Given the description of an element on the screen output the (x, y) to click on. 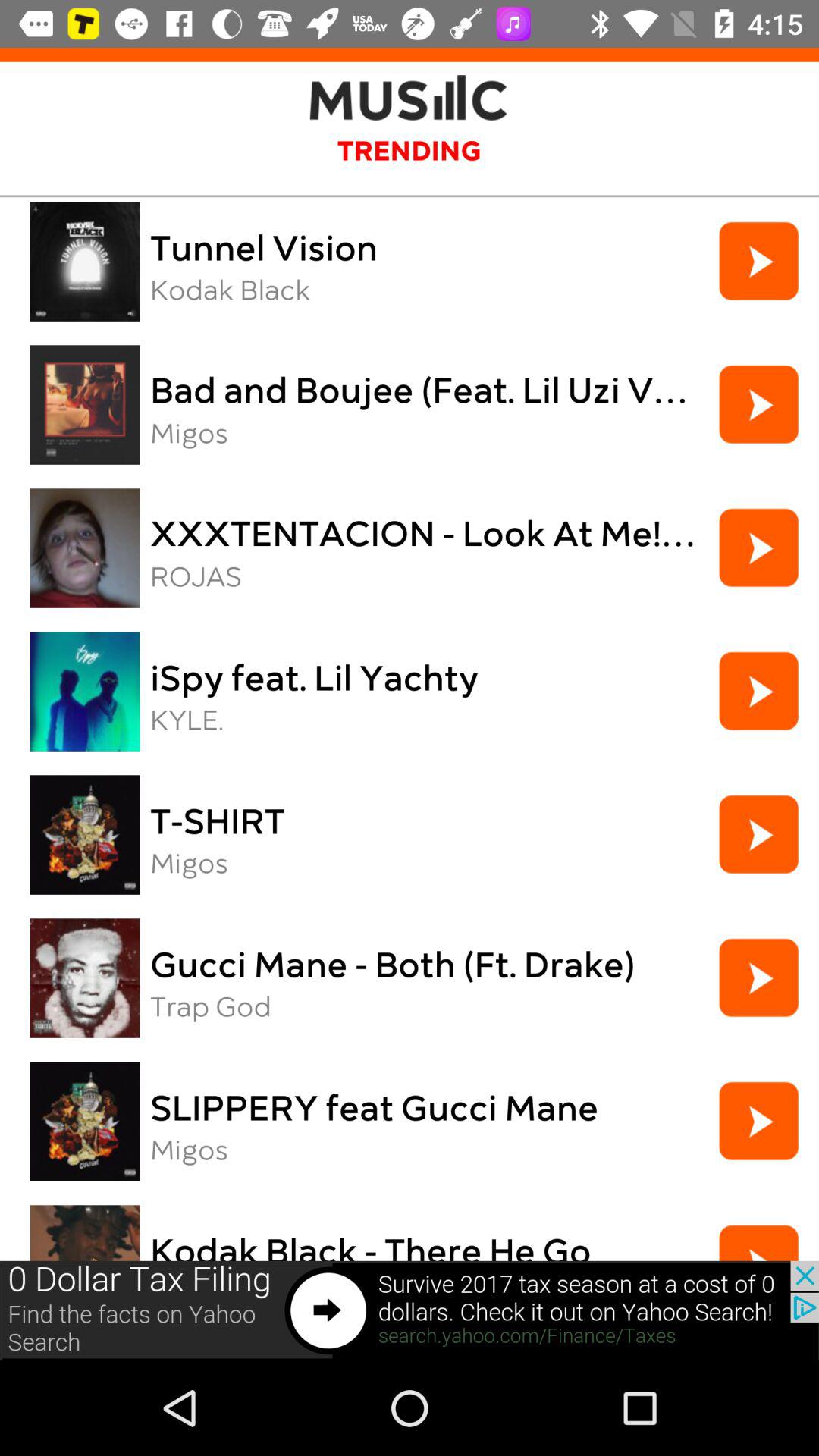
advertisement at bottom (409, 1310)
